Given the description of an element on the screen output the (x, y) to click on. 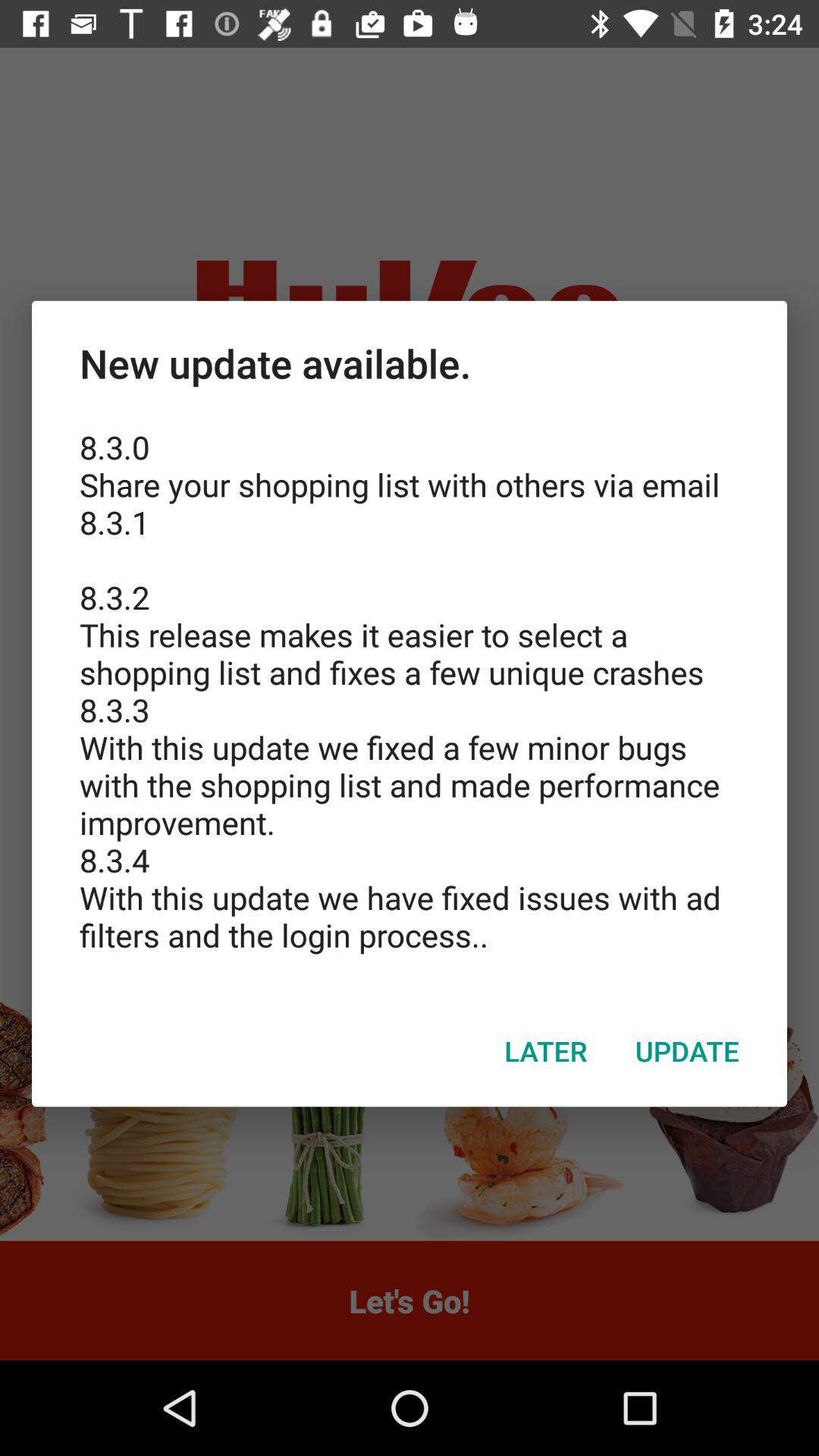
turn on the icon next to the update (545, 1050)
